Given the description of an element on the screen output the (x, y) to click on. 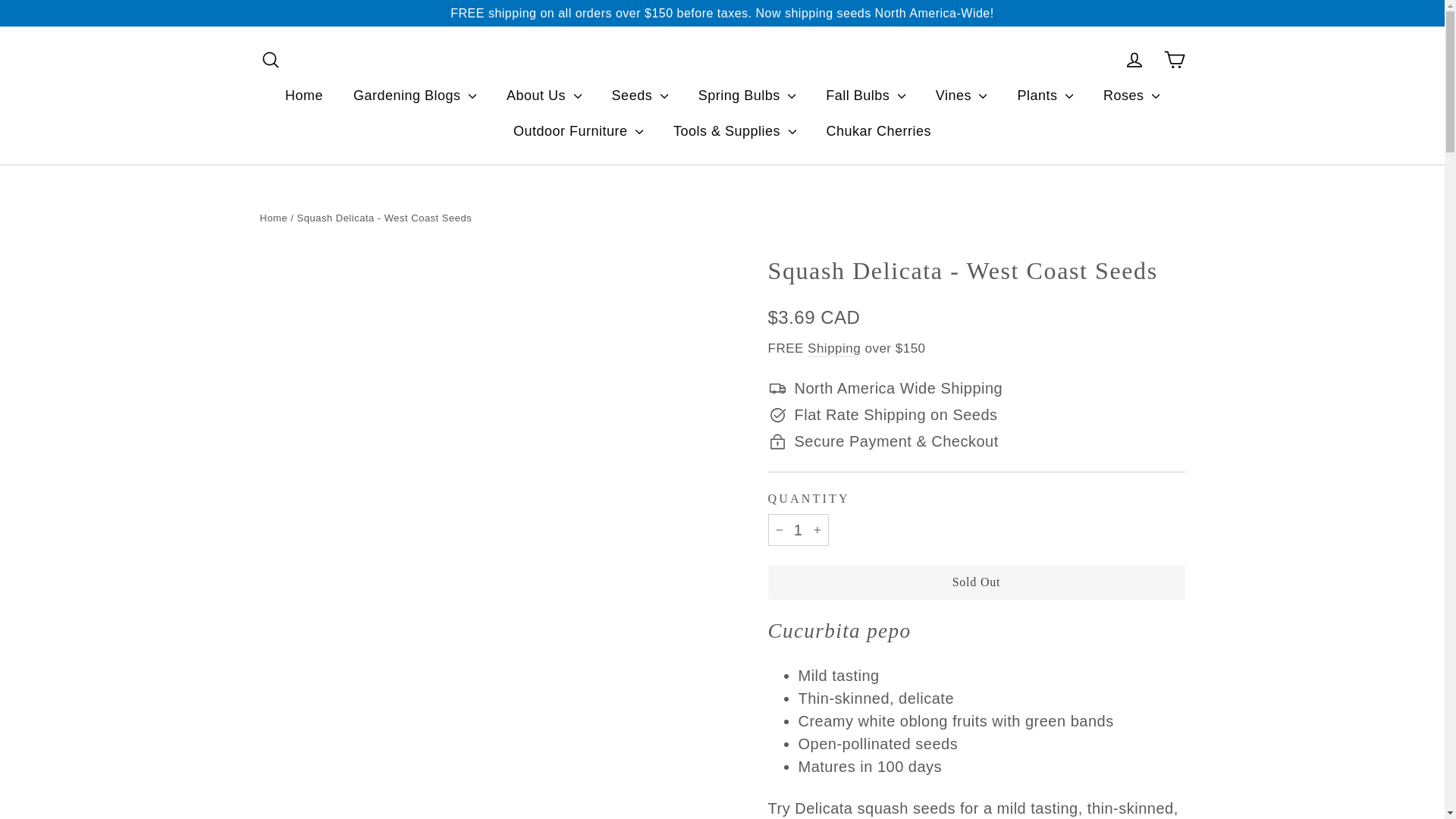
1 (797, 530)
account (1134, 59)
Back to the frontpage (272, 217)
icon-search (270, 59)
icon-cart (1174, 59)
